Given the description of an element on the screen output the (x, y) to click on. 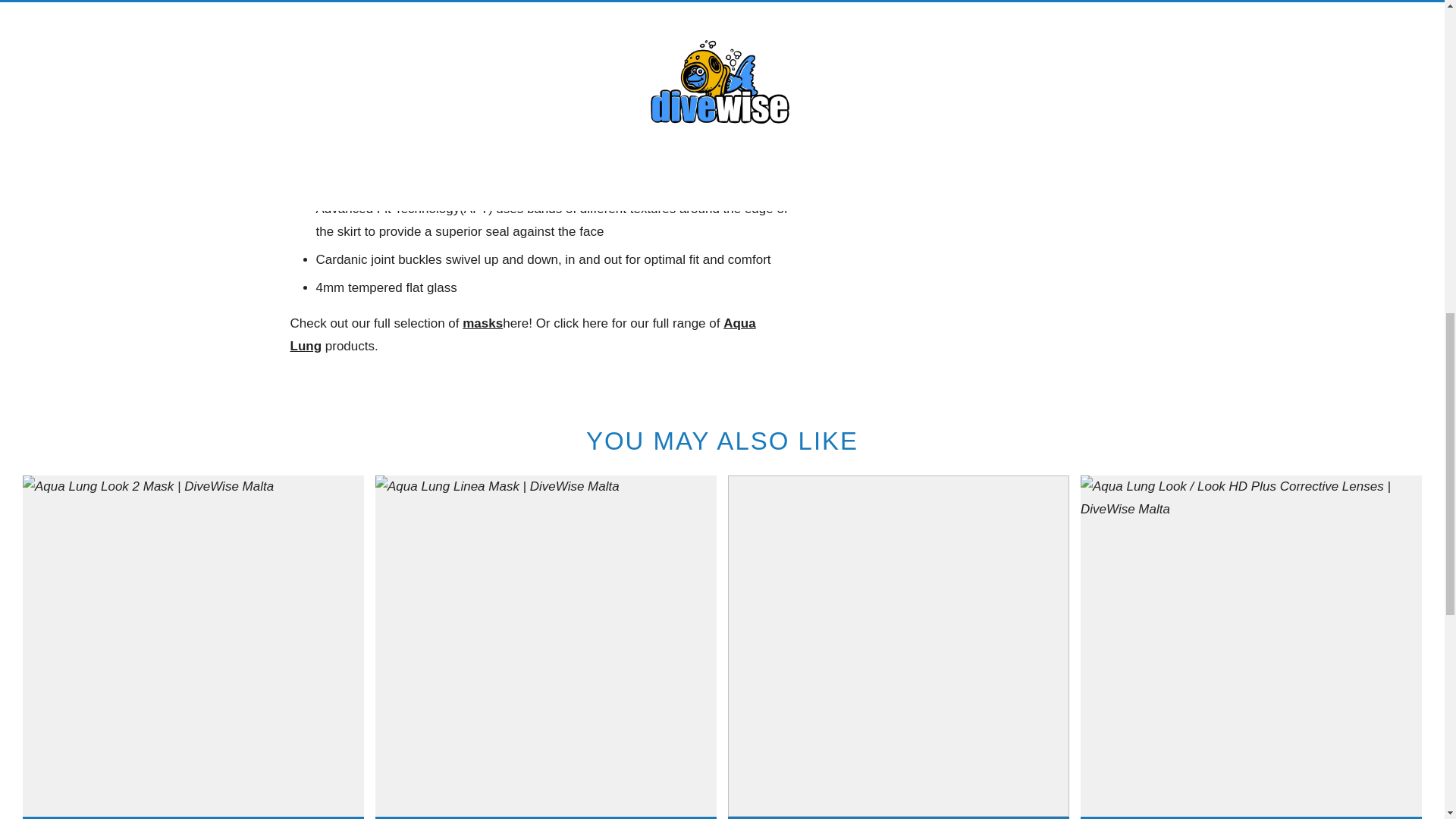
Aqua Lung Look 2 Mask (193, 645)
Aqua Lung Linea Mask (545, 645)
Aqua Lung Linea Mask (898, 645)
